Given the description of an element on the screen output the (x, y) to click on. 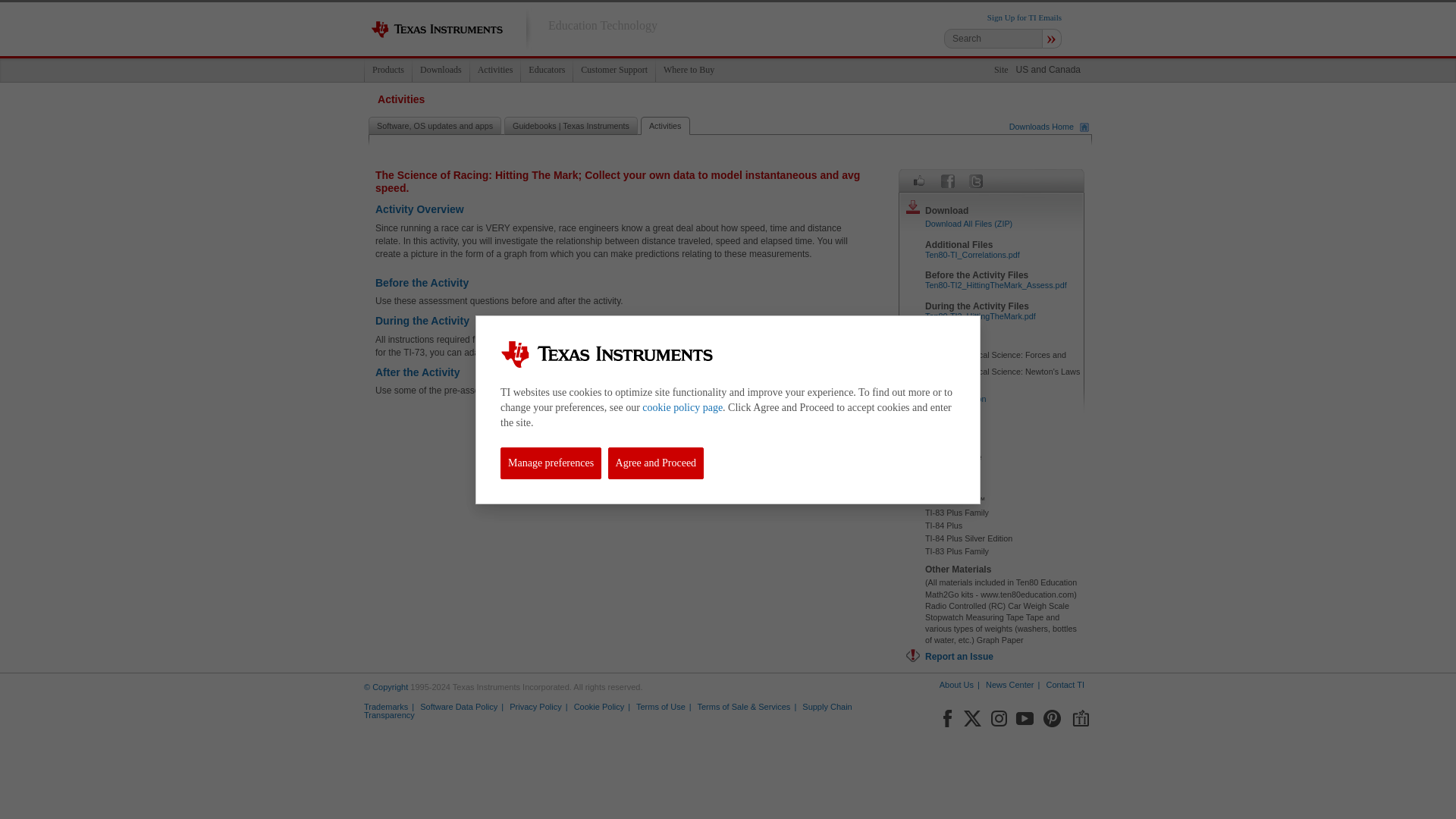
Educators (545, 69)
Activities (494, 69)
Facebook (946, 715)
Facebook (947, 180)
Instagram (998, 715)
Twitter (972, 715)
Products (388, 69)
YouTube (1025, 715)
Downloads (440, 69)
Recommend Activity (919, 180)
